Given the description of an element on the screen output the (x, y) to click on. 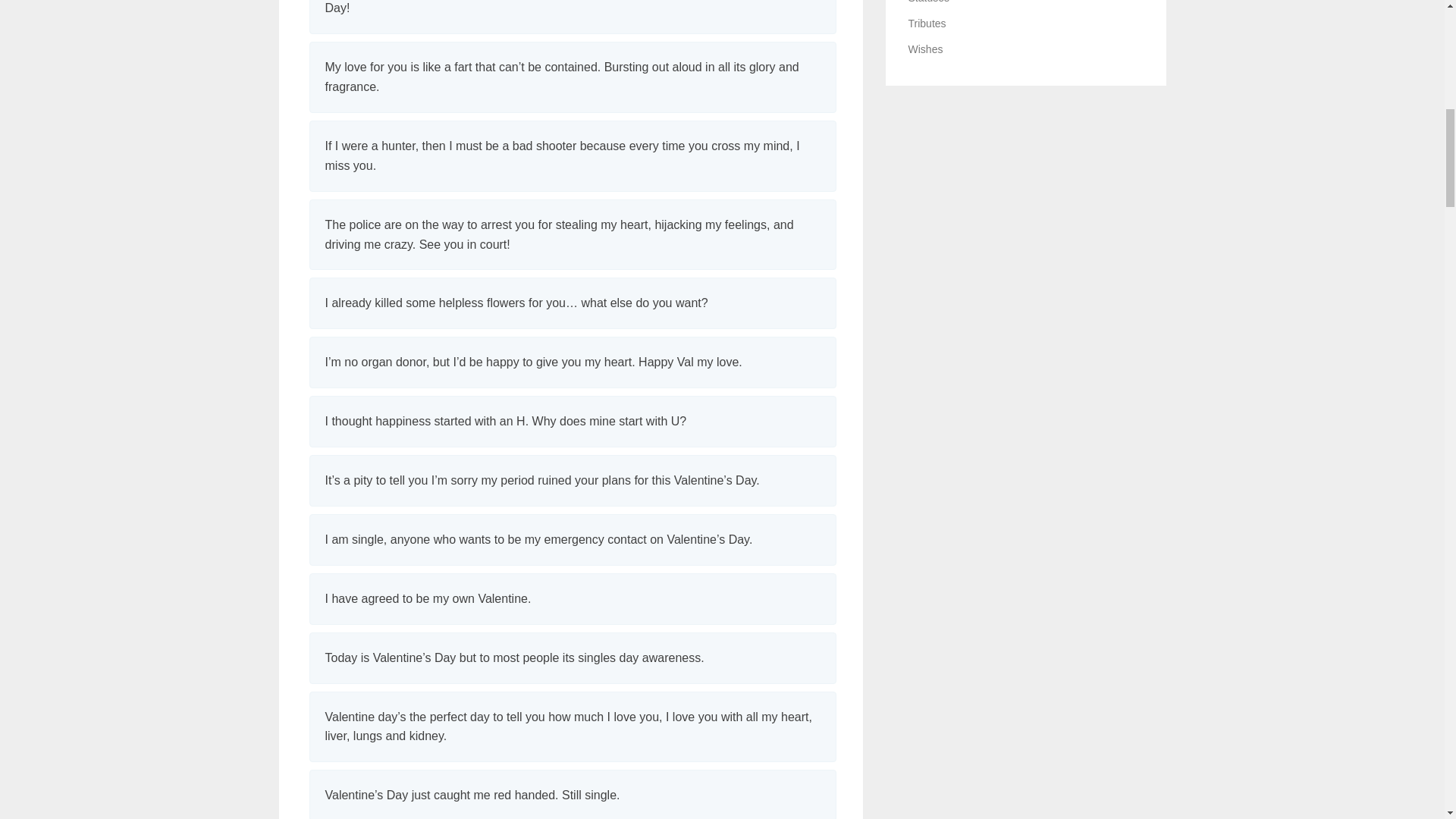
Tributes (927, 23)
Statuses (928, 2)
Wishes (925, 49)
